Given the description of an element on the screen output the (x, y) to click on. 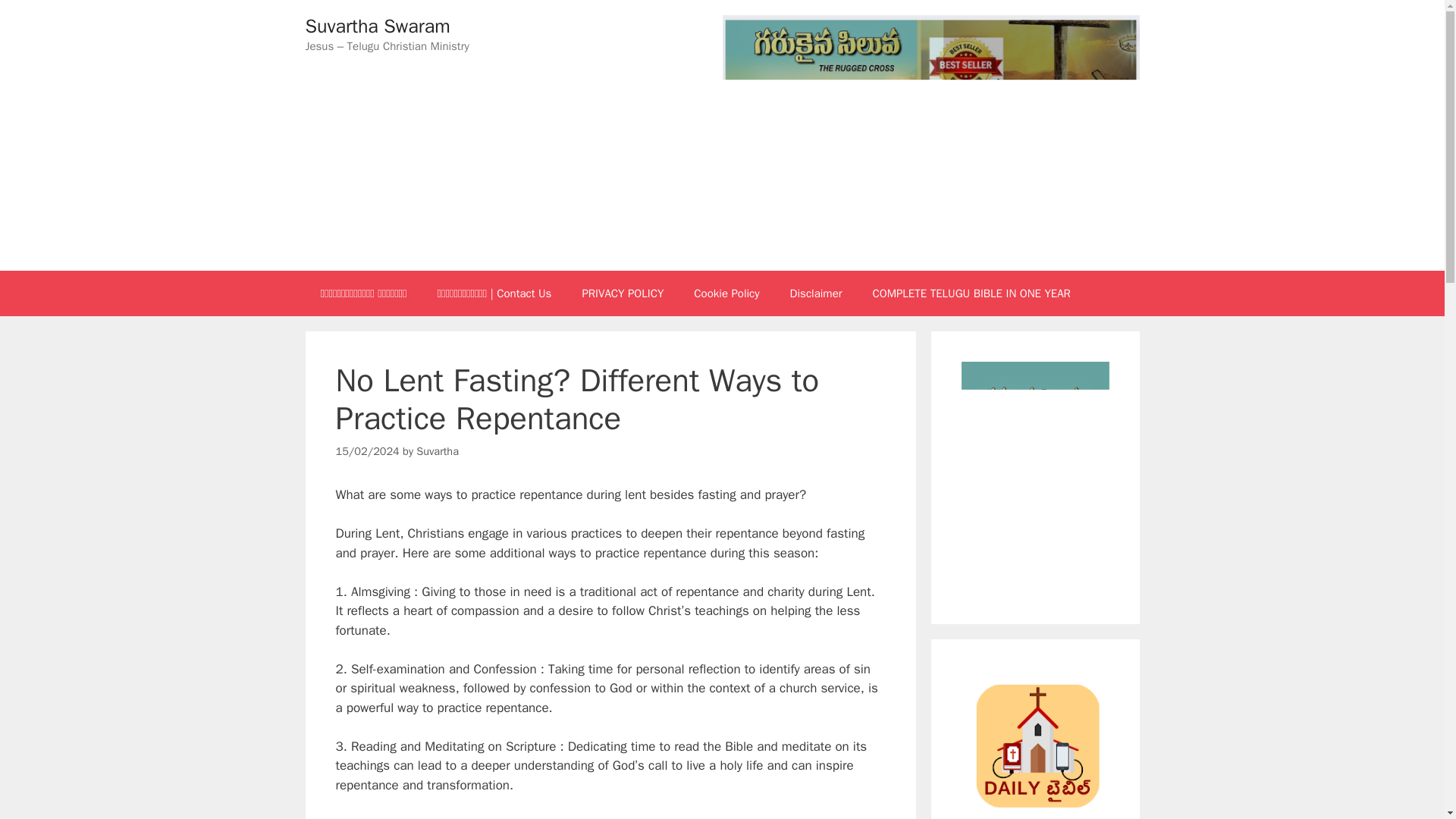
View all posts by Suvartha (437, 450)
COMPLETE TELUGU BIBLE IN ONE YEAR (971, 293)
Suvartha (437, 450)
Disclaimer (815, 293)
Cookie Policy (726, 293)
Suvartha Swaram (376, 25)
PRIVACY POLICY (622, 293)
